Given the description of an element on the screen output the (x, y) to click on. 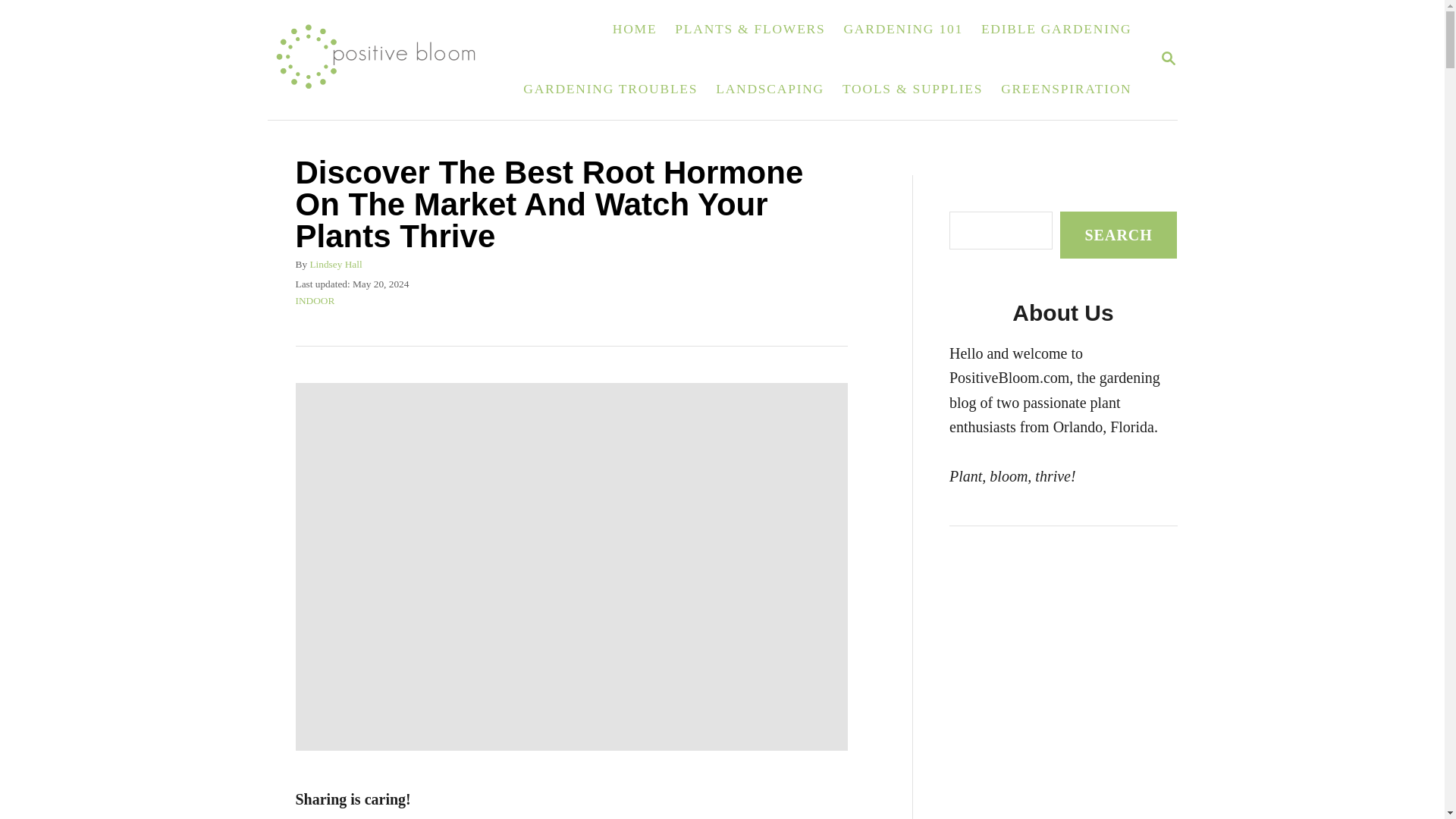
HOME (635, 29)
MAGNIFYING GLASS (1167, 58)
GARDENING TROUBLES (609, 89)
Positivebloom (384, 59)
LANDSCAPING (769, 89)
EDIBLE GARDENING (1056, 29)
GREENSPIRATION (1065, 89)
GARDENING 101 (1167, 59)
